Given the description of an element on the screen output the (x, y) to click on. 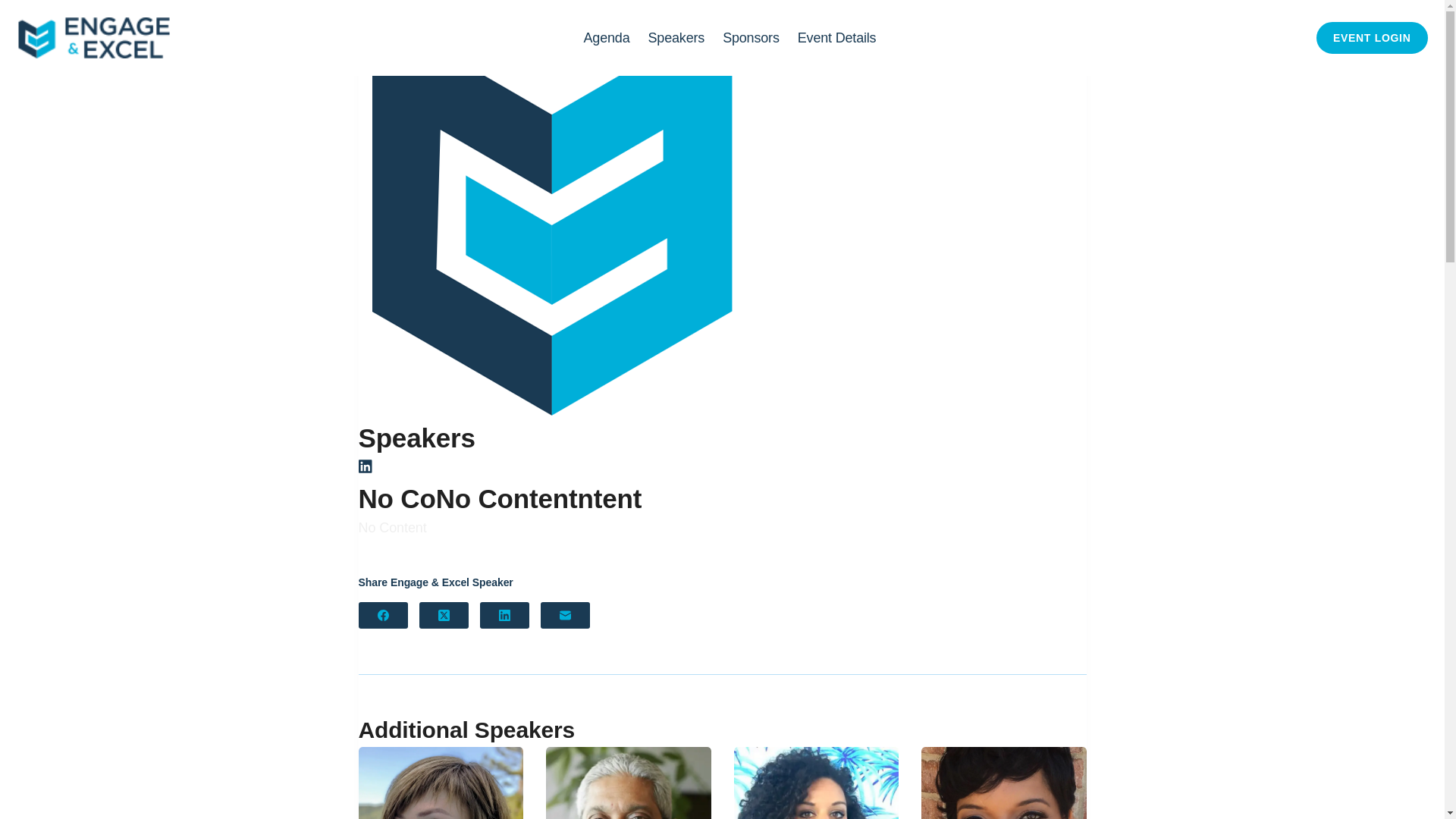
Event Details (837, 38)
Skip to content (15, 7)
Sponsors (751, 38)
EVENT LOGIN (1372, 38)
Speakers (676, 38)
